Given the description of an element on the screen output the (x, y) to click on. 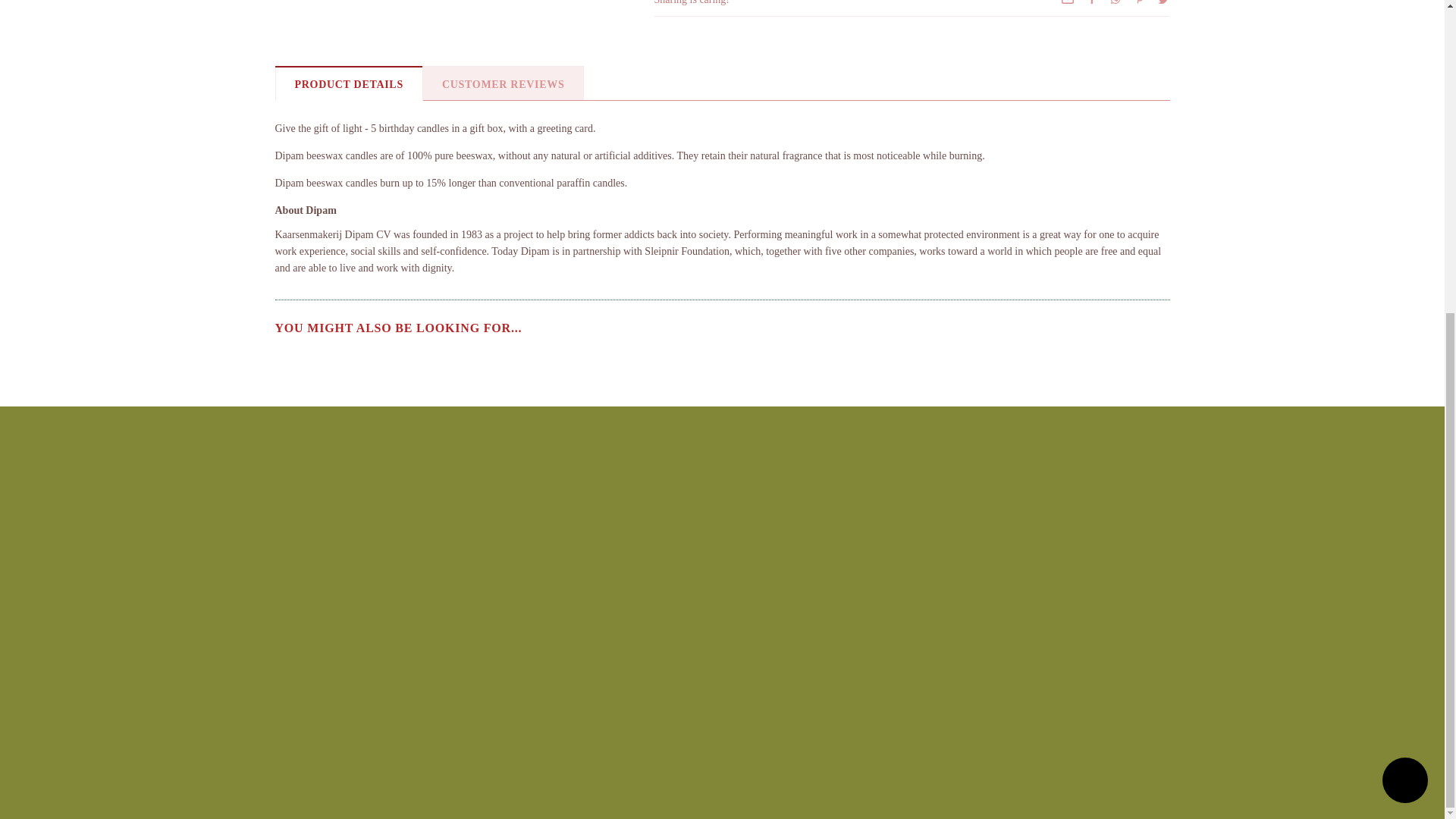
Share Facebook (1091, 2)
Pinterest (1139, 2)
Email (1067, 2)
Twitter (1163, 2)
WhatsApp (1115, 2)
